Given the description of an element on the screen output the (x, y) to click on. 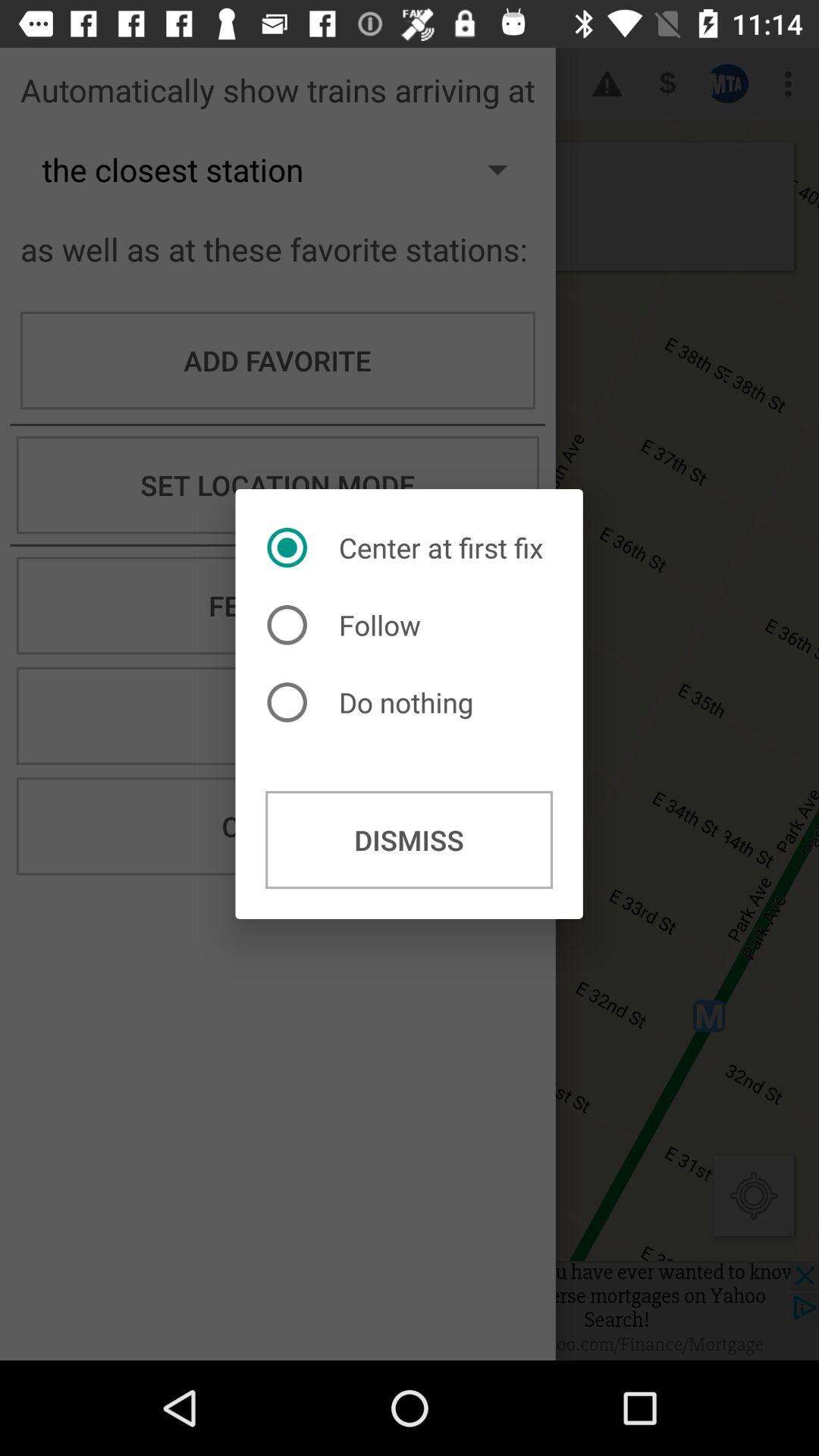
tap the radio button above follow icon (409, 547)
